Given the description of an element on the screen output the (x, y) to click on. 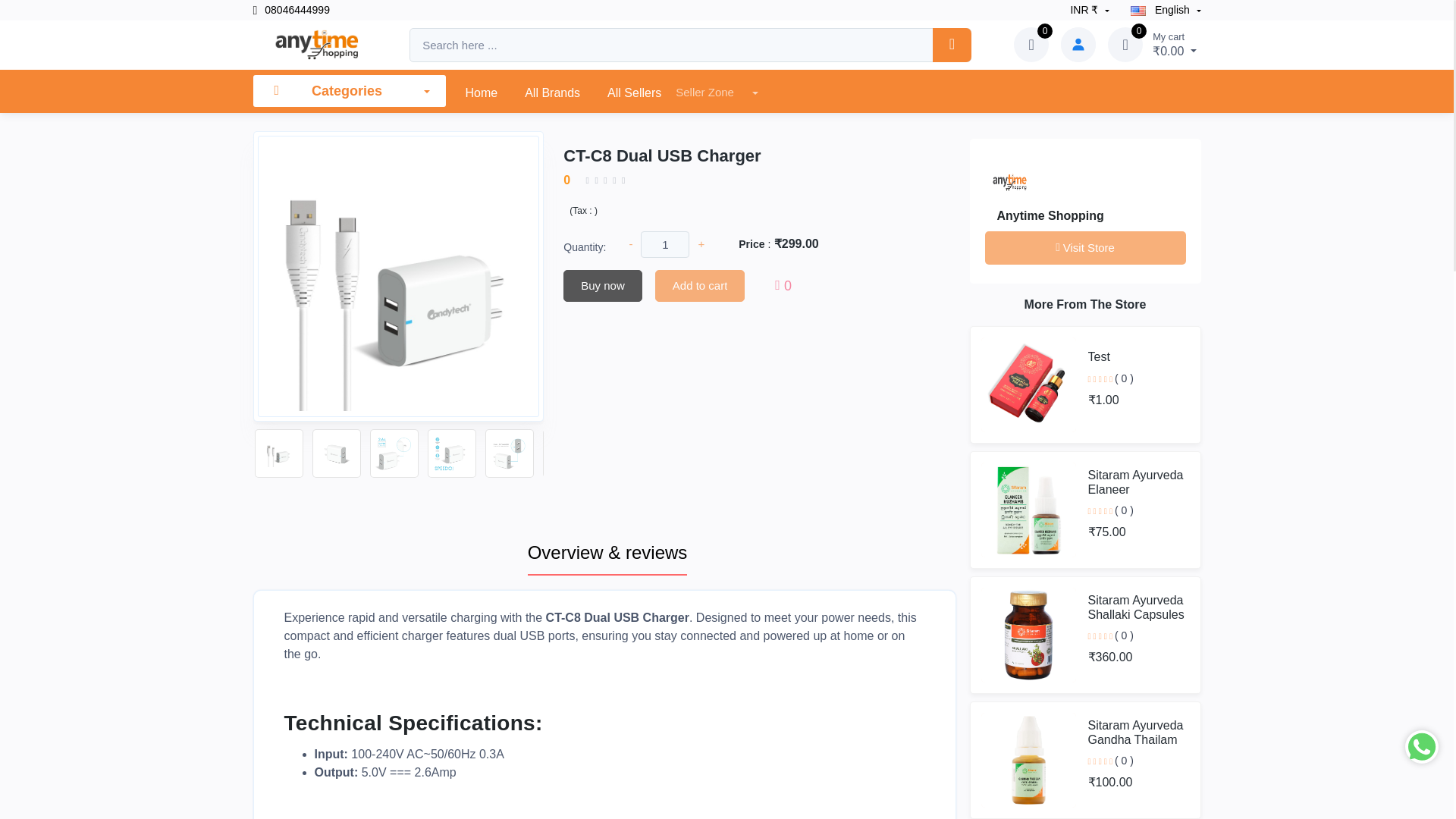
Categories (349, 91)
English (1166, 10)
0 (1030, 44)
08046444999 (291, 10)
1 (664, 243)
0 (1125, 44)
